Given the description of an element on the screen output the (x, y) to click on. 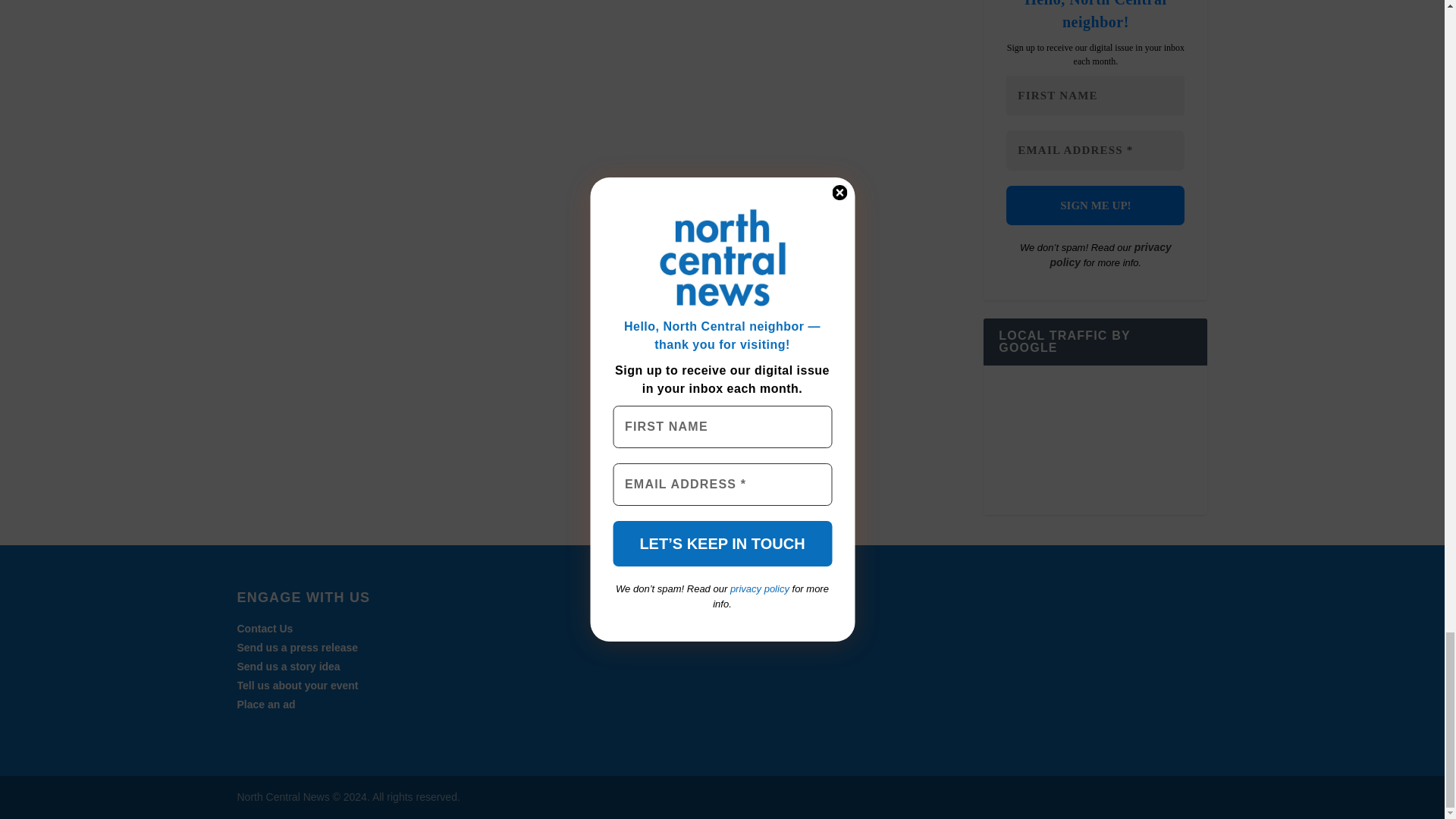
Sign me up! (1095, 205)
